Given the description of an element on the screen output the (x, y) to click on. 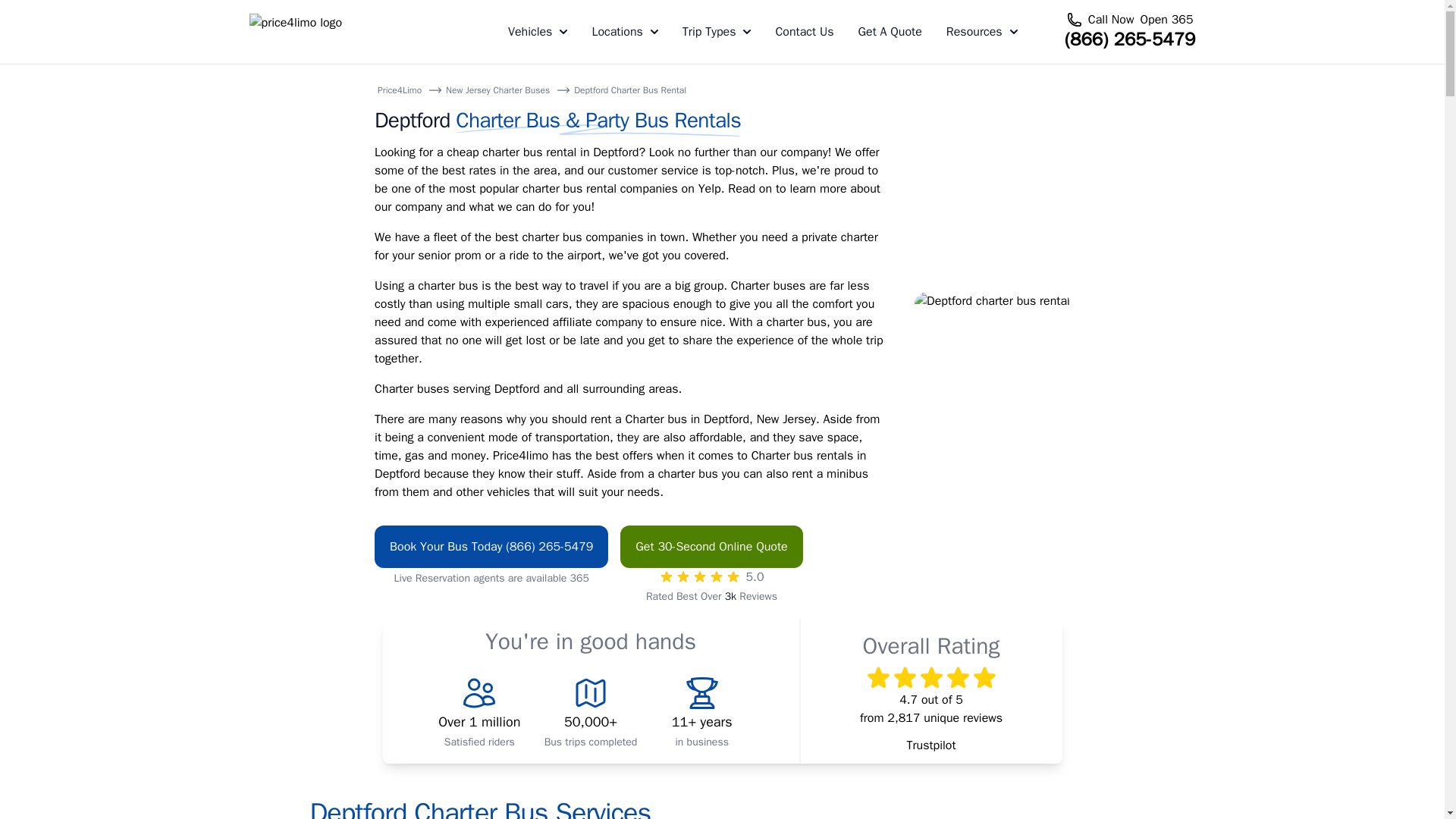
Call Now (1110, 19)
Trip Types (716, 31)
Open 365 (1166, 19)
Get A Quote (889, 31)
Locations (624, 31)
Vehicles (537, 31)
Contact Us (803, 31)
Resources (981, 31)
